Given the description of an element on the screen output the (x, y) to click on. 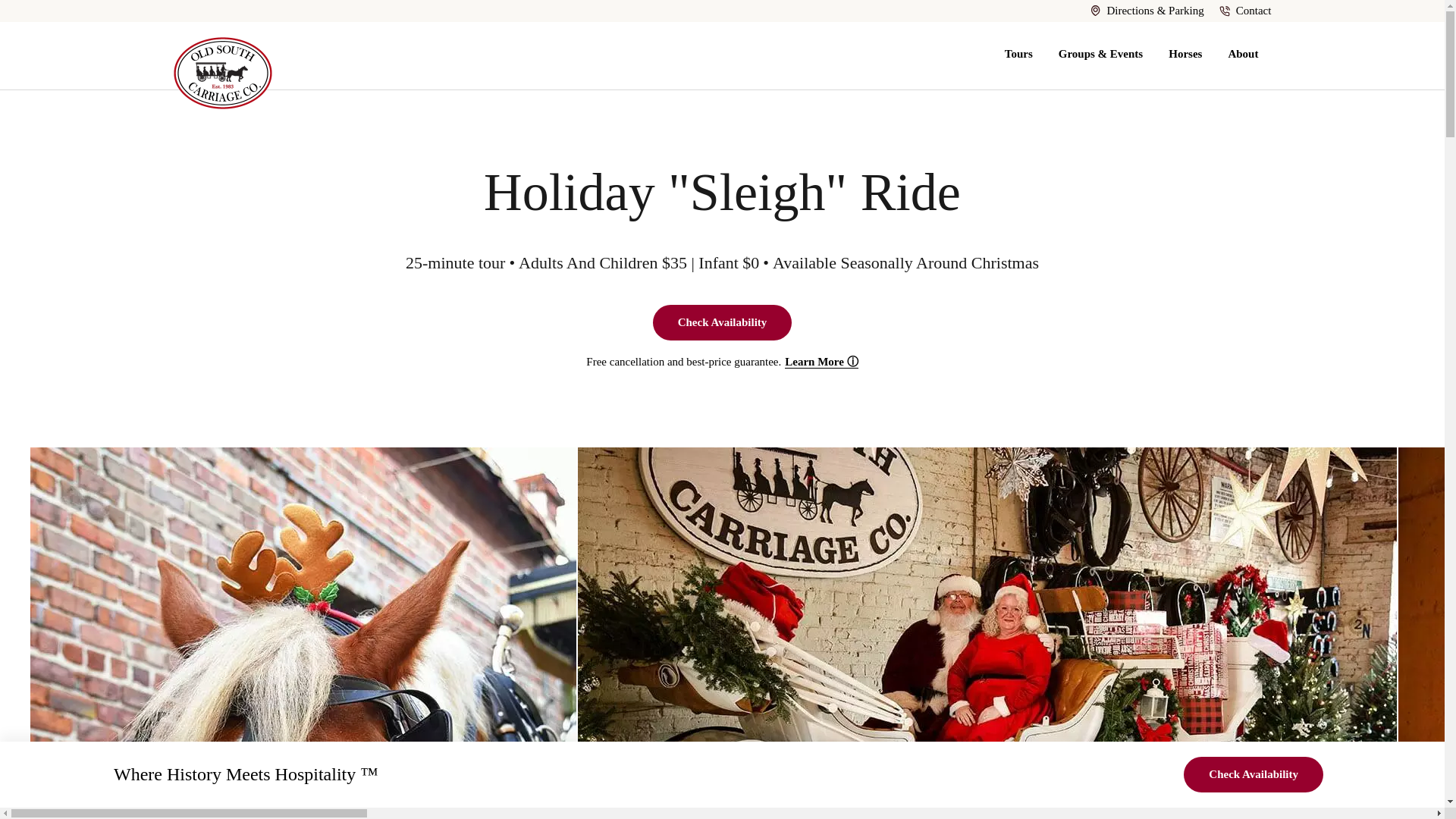
Horses (1185, 55)
Contact (1245, 10)
Check Availability (722, 322)
